Given the description of an element on the screen output the (x, y) to click on. 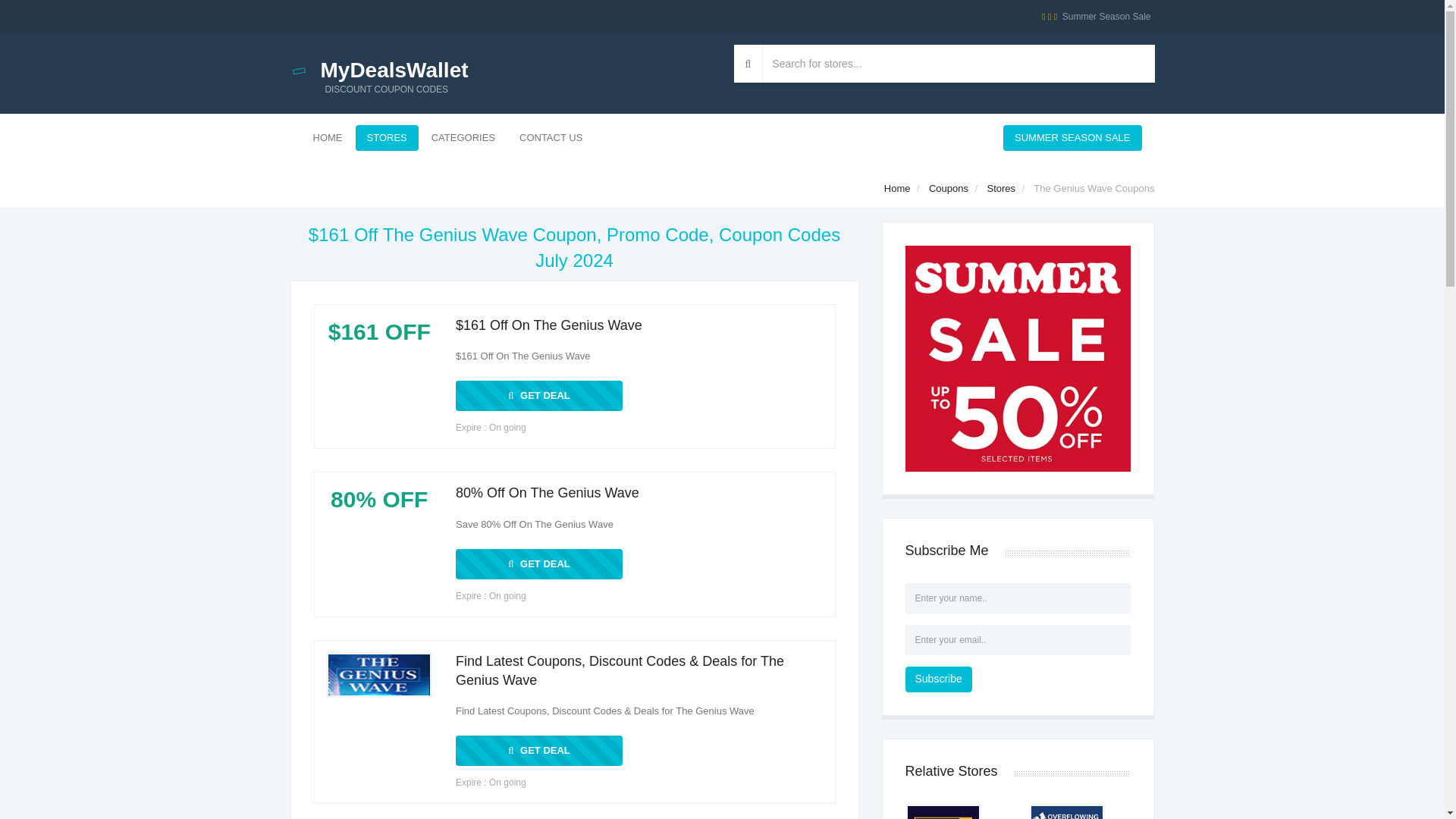
CONTACT US (551, 137)
CATEGORIES (499, 63)
 Summer Season Sale (539, 750)
Subscribe (463, 137)
Home (539, 395)
Coupons (539, 563)
HOME (1096, 16)
Stores (938, 679)
Summer Season Sale (897, 188)
STORES (948, 188)
SUMMER SEASON SALE (327, 137)
